Given the description of an element on the screen output the (x, y) to click on. 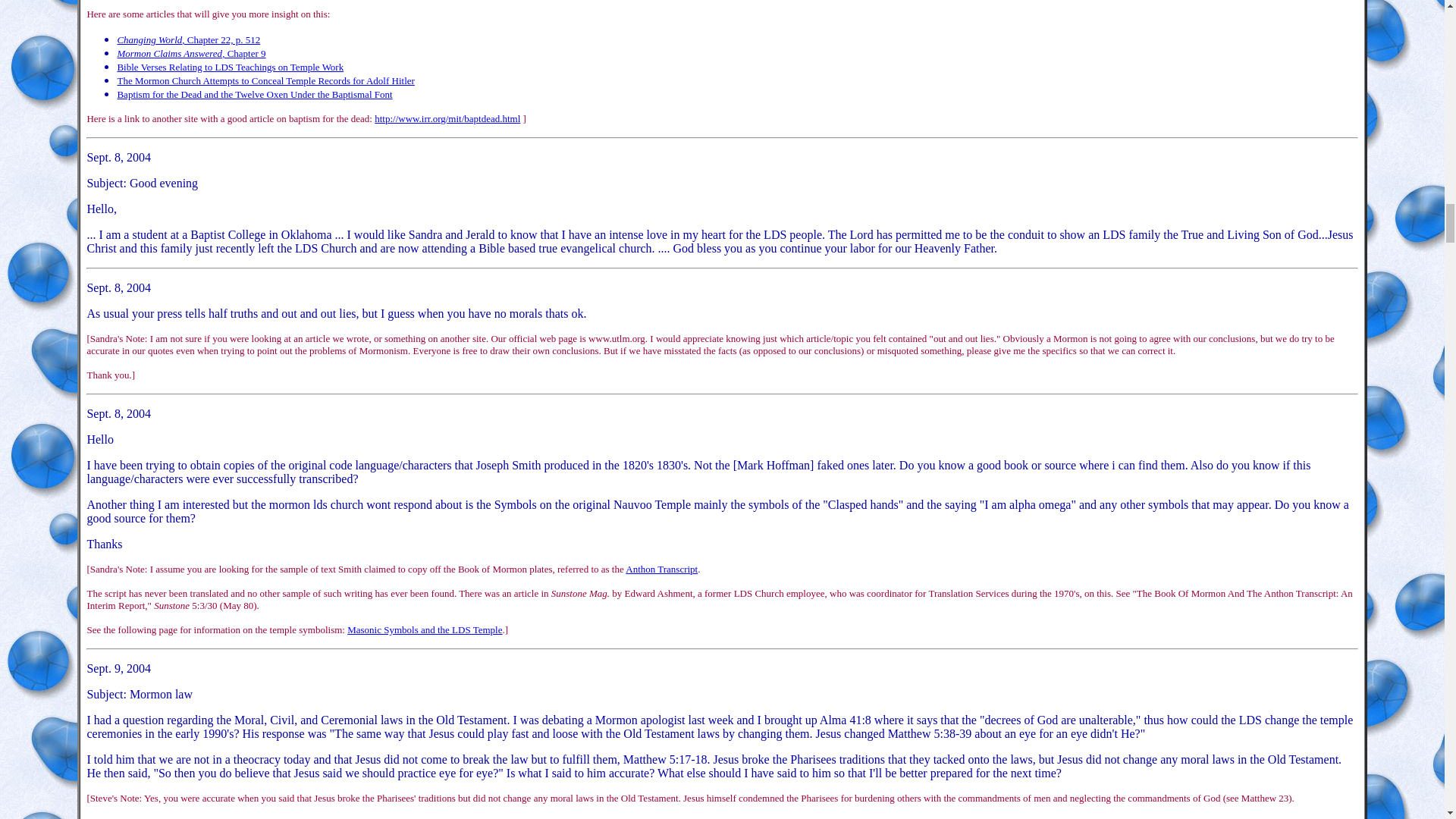
Mormon Claims Answered, Chapter 9 (190, 51)
Anthon Transcript (661, 568)
Bible Verses Relating to LDS Teachings on Temple Work (229, 65)
Masonic Symbols and the LDS Temple (424, 629)
Changing World, Chapter 22, p. 512 (188, 38)
